Given the description of an element on the screen output the (x, y) to click on. 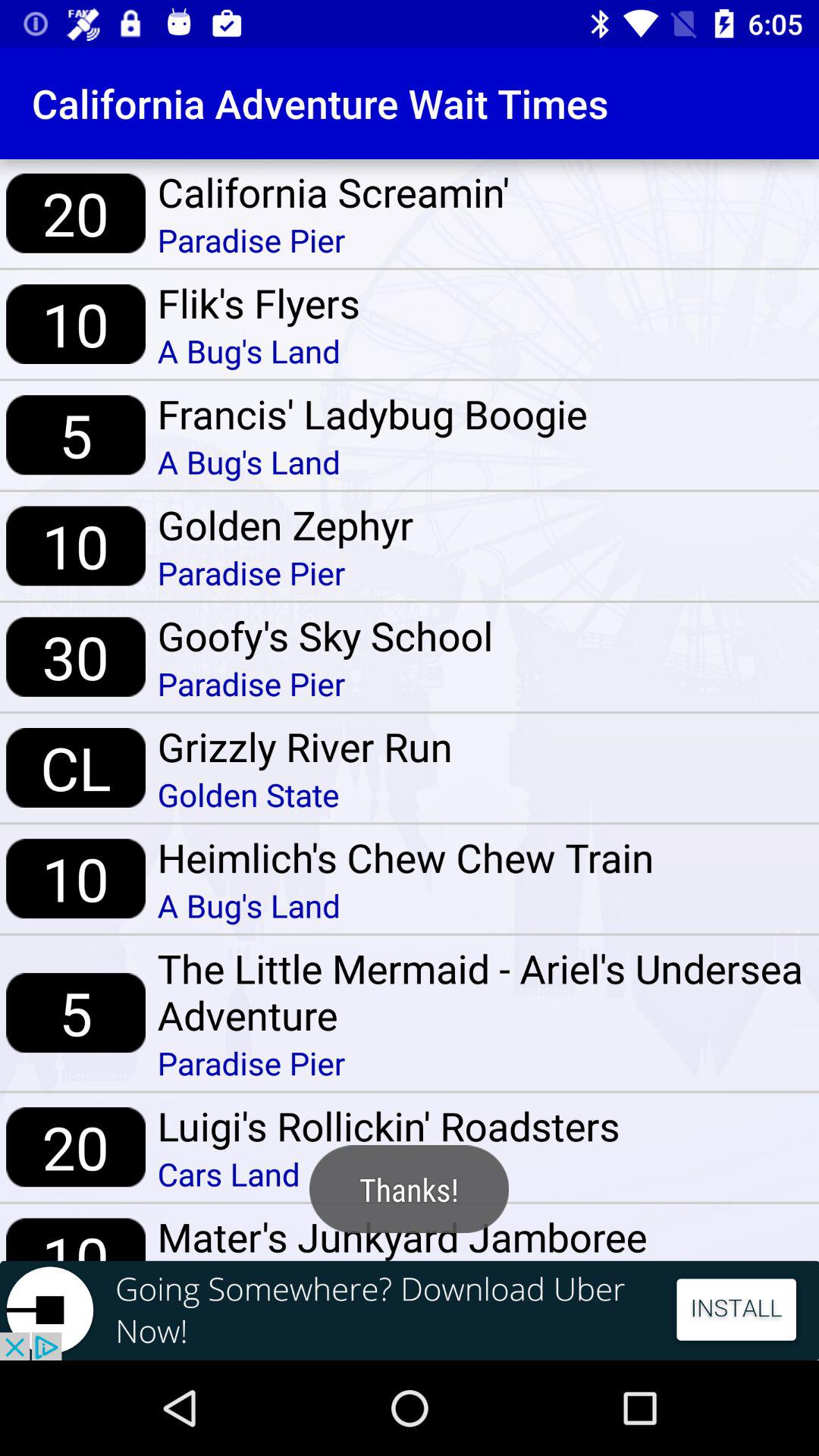
tap item above the paradise pier (333, 191)
